Given the description of an element on the screen output the (x, y) to click on. 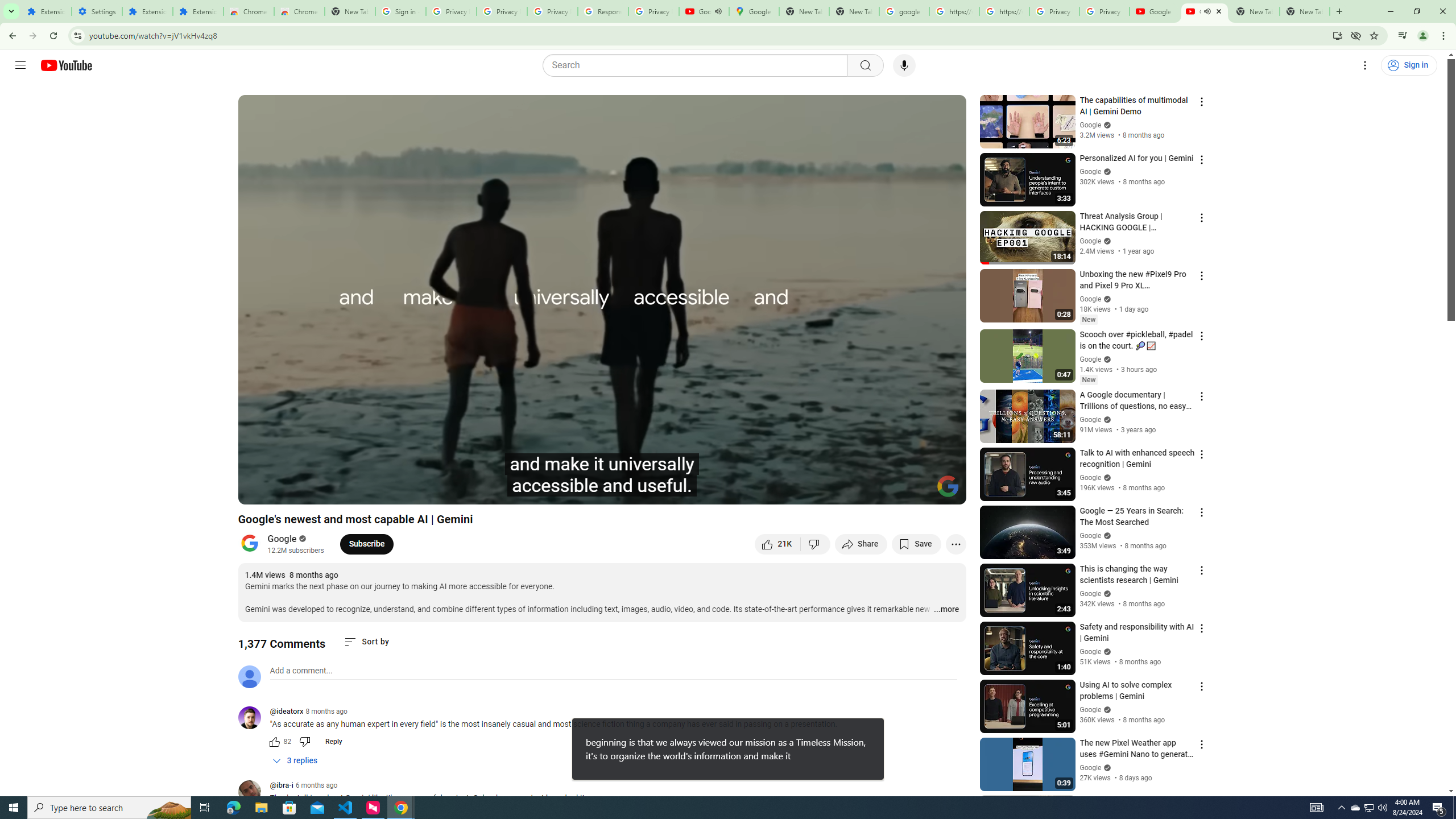
Minimize (1390, 11)
New Tab (1338, 11)
@ibra-i (253, 792)
Extensions (146, 11)
Forward (32, 35)
Settings (863, 490)
Chrome (1445, 35)
@ideatorx (253, 717)
Address and search bar (707, 35)
Back (10, 35)
Autoplay is on (808, 490)
...more (946, 609)
Next (SHIFT+n) (284, 490)
